Given the description of an element on the screen output the (x, y) to click on. 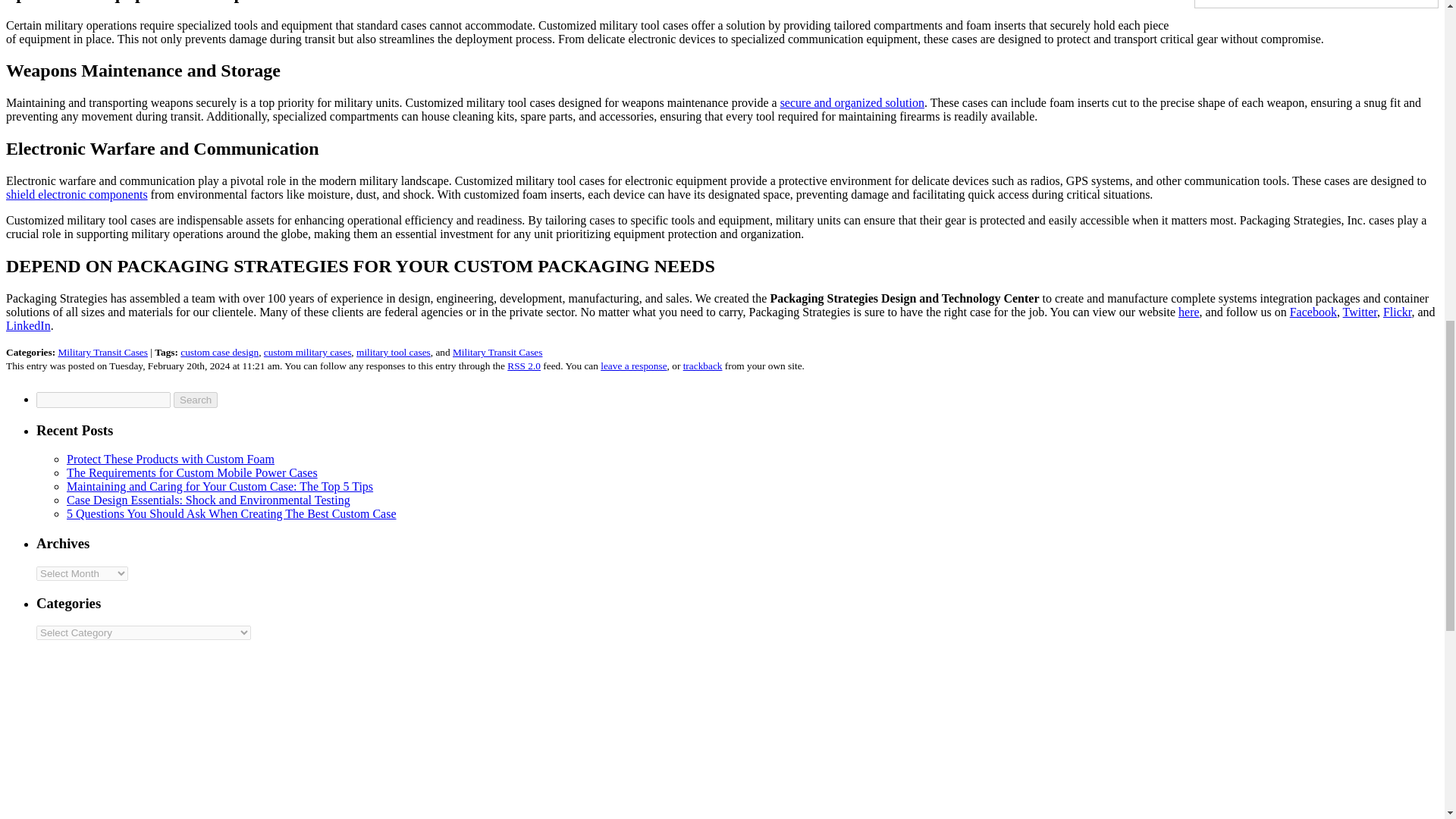
custom case design (219, 351)
Facebook (1313, 311)
secure and organized solution (852, 102)
here (1188, 311)
Search (194, 399)
LinkedIn (27, 325)
Twitter (1359, 311)
Flickr (1397, 311)
Military Transit Cases (102, 351)
shield electronic components (76, 194)
